Given the description of an element on the screen output the (x, y) to click on. 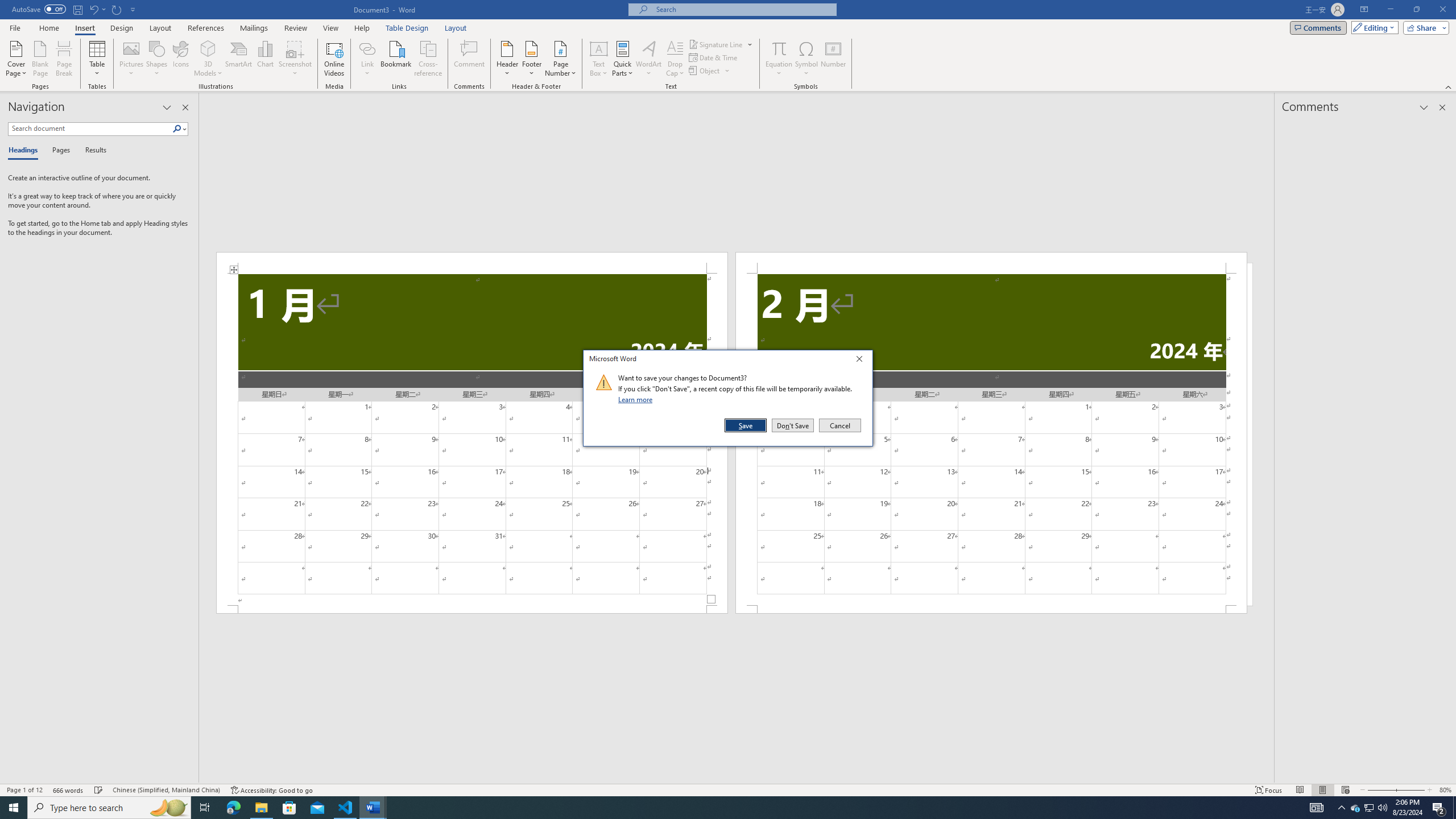
Web Layout (1344, 790)
Mode (1372, 27)
Symbol (806, 58)
User Promoted Notification Area (1368, 807)
Close pane (185, 107)
Insert (83, 28)
Print Layout (1322, 790)
Shapes (156, 58)
Restore Down (1416, 9)
Comments (1318, 27)
Start (13, 807)
WordArt (648, 58)
